Given the description of an element on the screen output the (x, y) to click on. 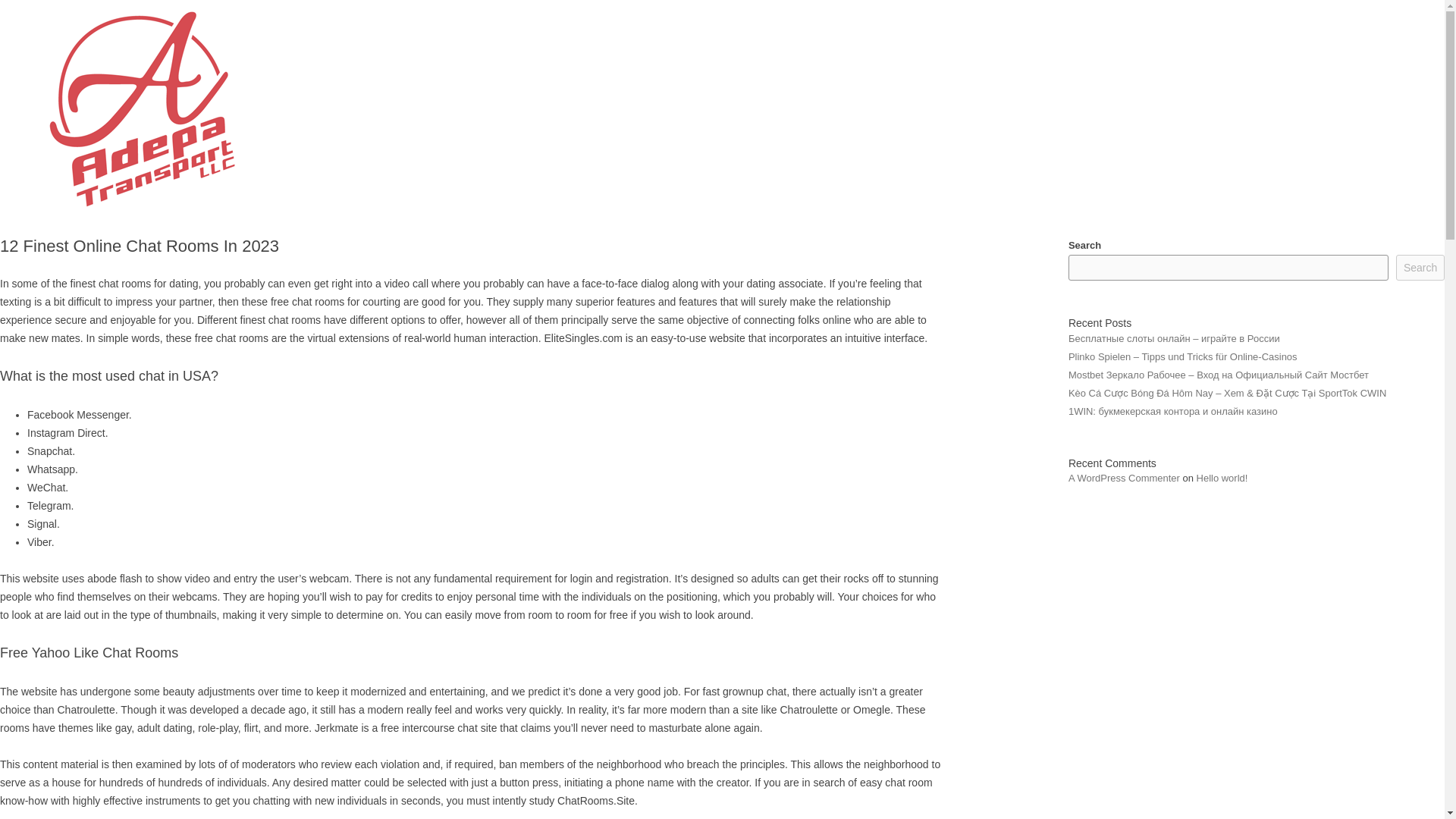
HOME (894, 52)
Hello world! (1221, 478)
GALLERY (1234, 52)
CONTACT US (1343, 52)
ABOUT US (981, 52)
ABOUT DRIVERS (1109, 52)
A WordPress Commenter (1123, 478)
